Given the description of an element on the screen output the (x, y) to click on. 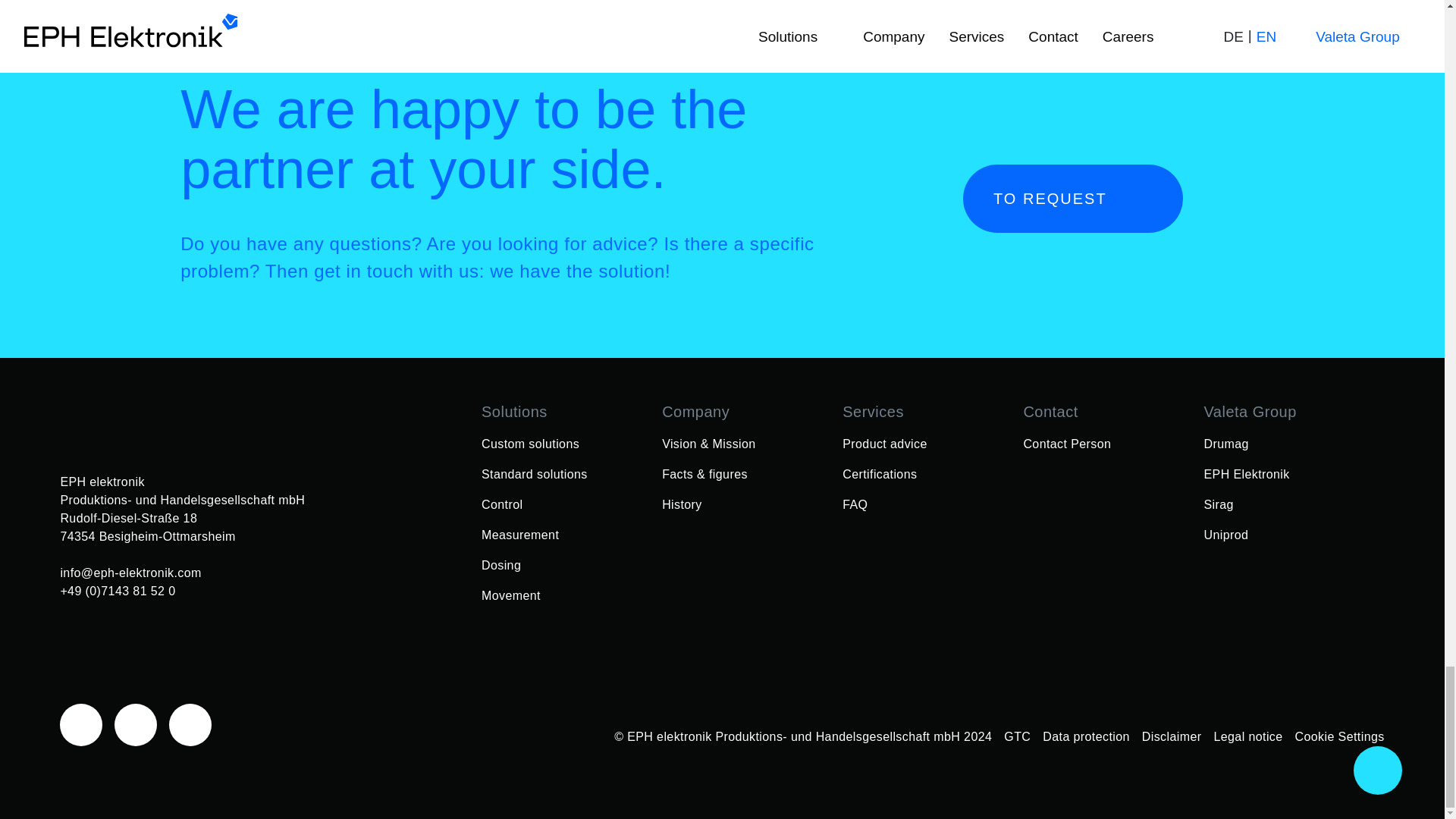
Standard solutions (534, 474)
Custom solutions (530, 443)
Measurement (520, 534)
TO REQUEST (1072, 198)
linkedin (189, 723)
Dosing (501, 565)
Control (501, 504)
eph-elektronik-logo-footer (172, 423)
facebook (80, 723)
instagram (136, 723)
